Given the description of an element on the screen output the (x, y) to click on. 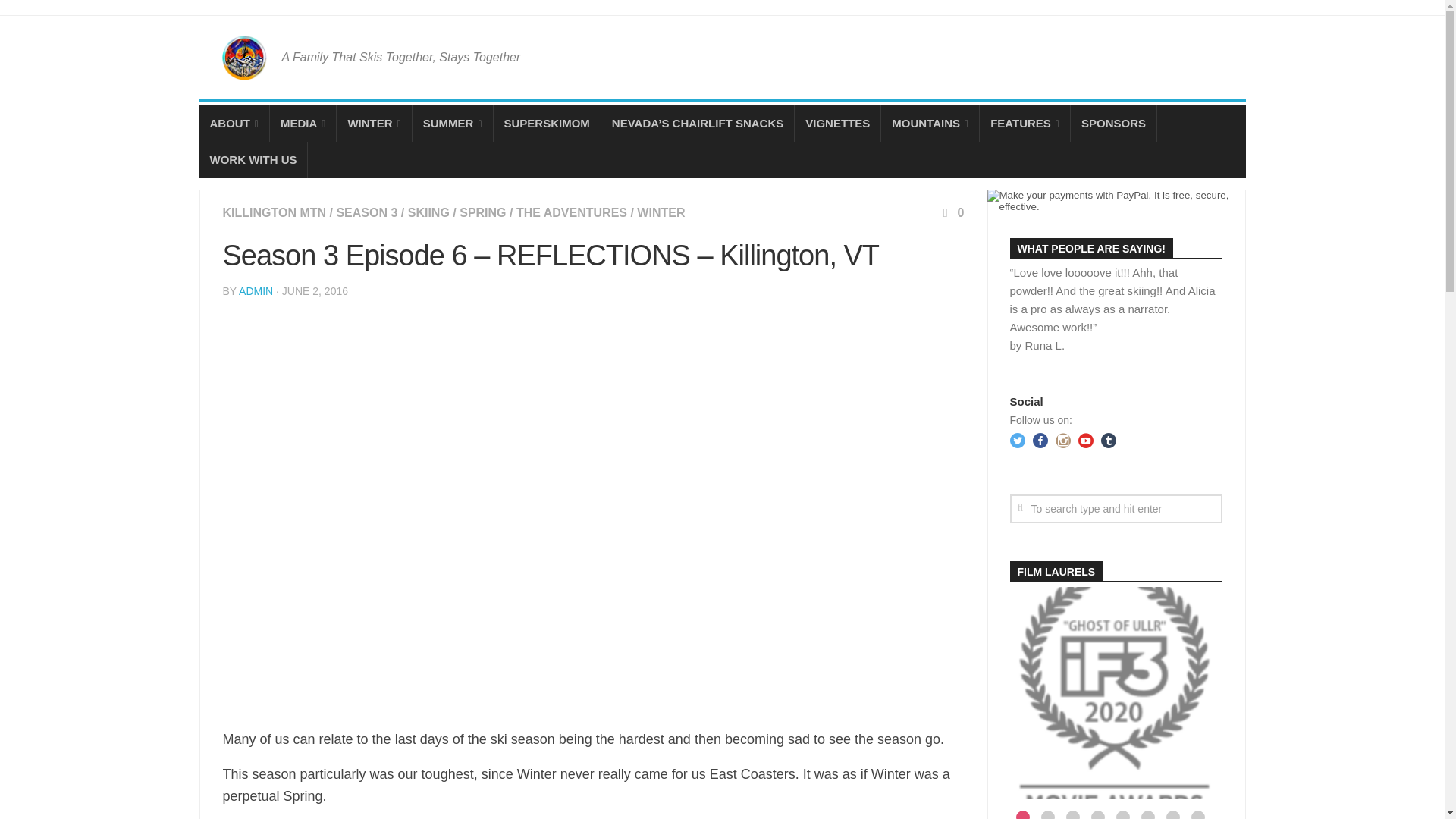
WINTER (373, 123)
MEDIA (302, 123)
To search type and hit enter (1116, 508)
Posts by admin (255, 291)
ABOUT (232, 123)
To search type and hit enter (1116, 508)
